Given the description of an element on the screen output the (x, y) to click on. 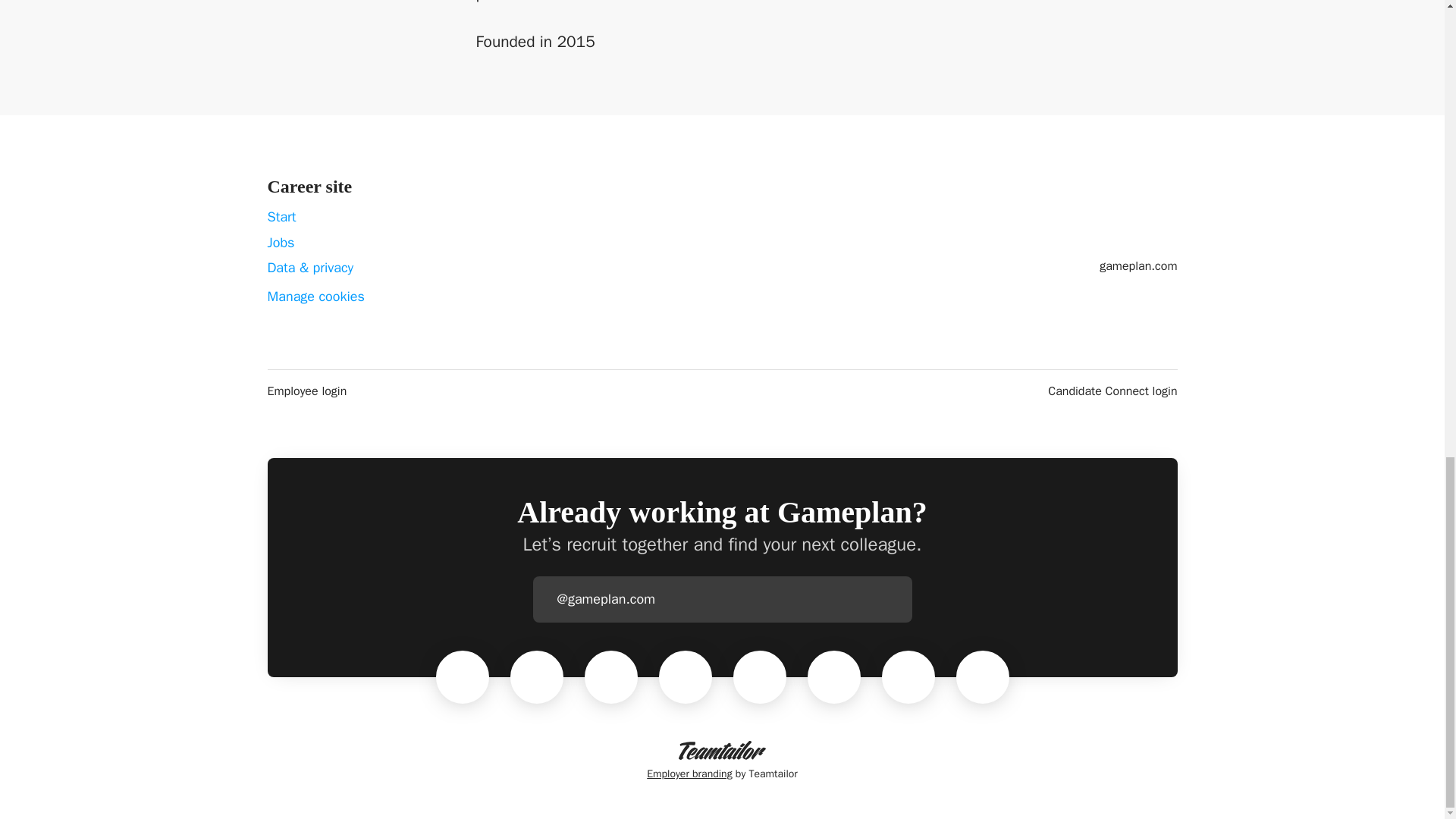
Log in (899, 598)
Alyson Vengoechea (536, 676)
Start (280, 216)
gameplan.com (1137, 265)
William Krishock (685, 676)
Hamid Abshari (759, 676)
Dan Andreasson (908, 676)
Candidate Connect login (1112, 391)
Employer branding by Teamtailor (721, 760)
Manage cookies (315, 296)
